Given the description of an element on the screen output the (x, y) to click on. 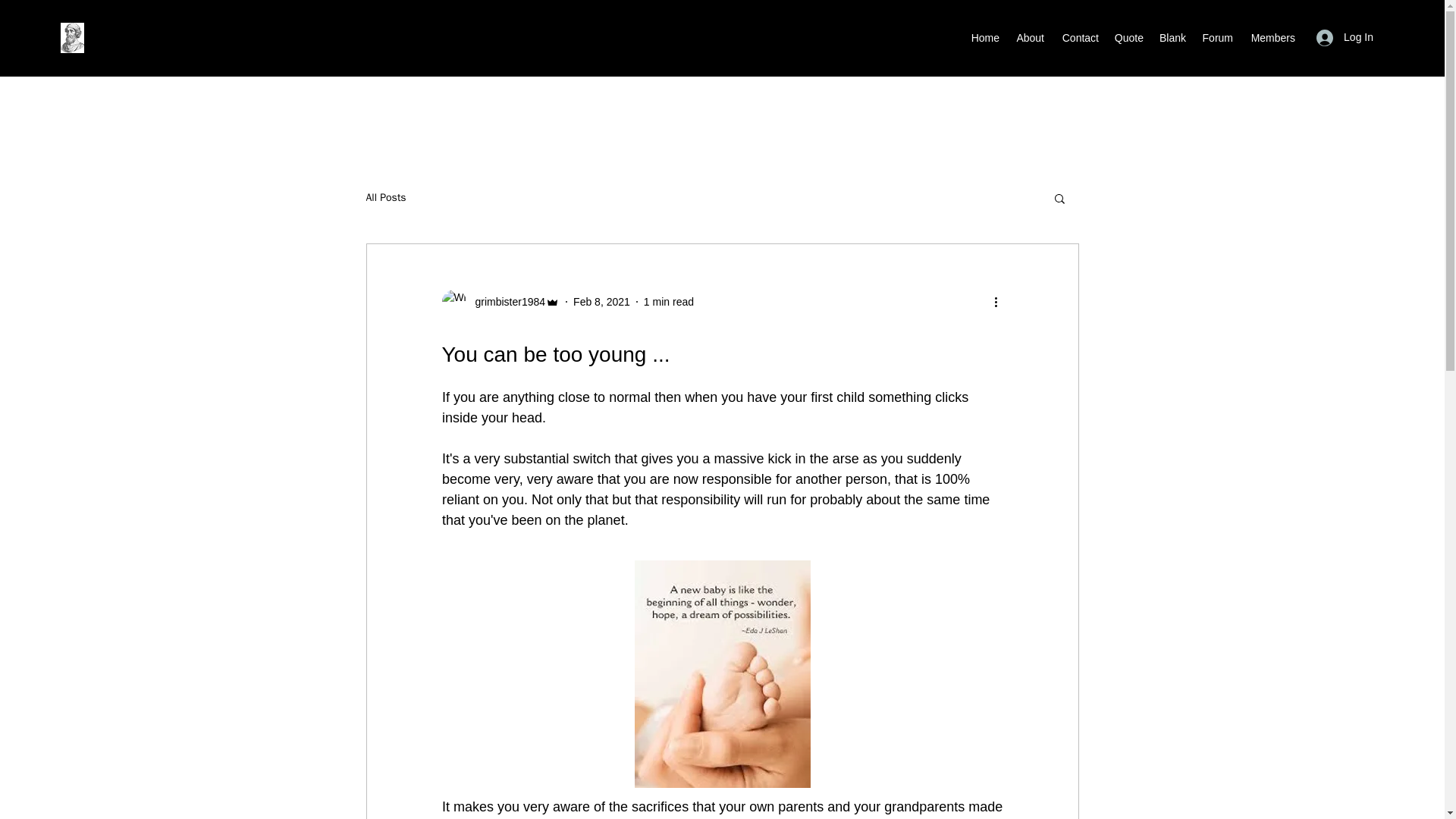
grimbister1984 (500, 301)
Members (1271, 37)
Contact (1078, 37)
Quote (1128, 37)
Blank (1172, 37)
Feb 8, 2021 (601, 301)
1 min read (668, 301)
Forum (1216, 37)
All Posts (385, 197)
Log In (1345, 37)
About (1029, 37)
Home (984, 37)
grimbister1984 (504, 302)
